Given the description of an element on the screen output the (x, y) to click on. 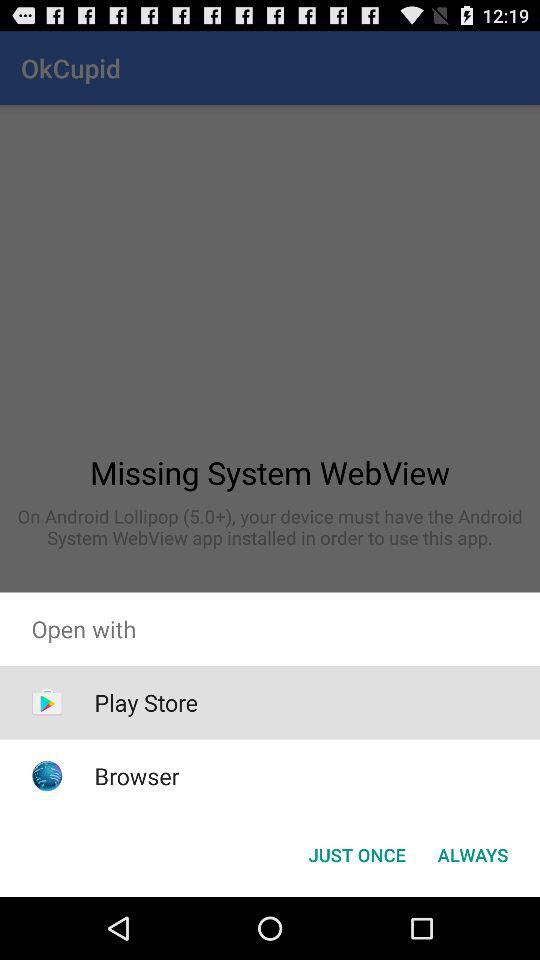
scroll to just once button (356, 854)
